Given the description of an element on the screen output the (x, y) to click on. 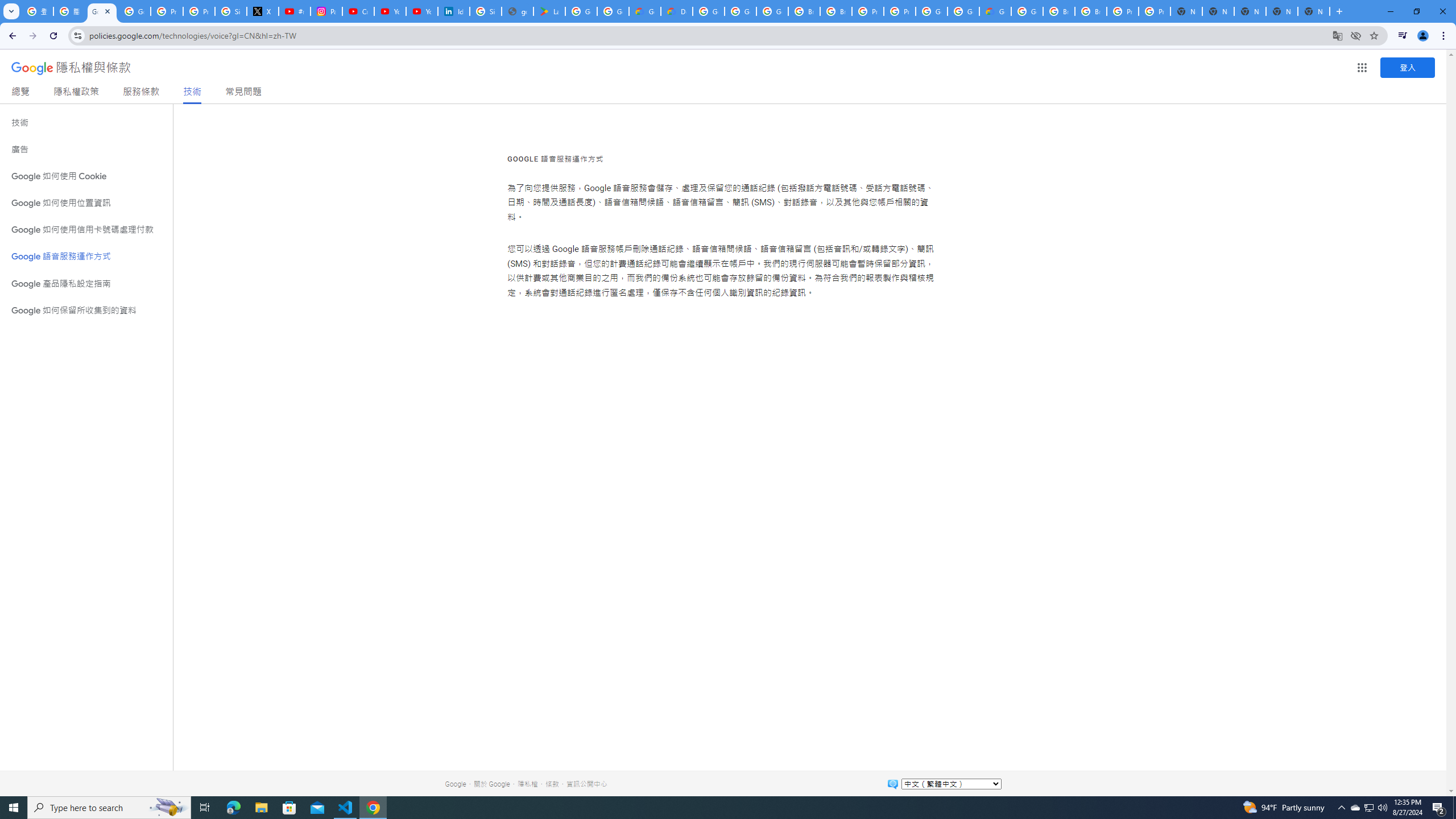
Last Shelter: Survival - Apps on Google Play (549, 11)
Privacy Help Center - Policies Help (198, 11)
Google Cloud Platform (1027, 11)
YouTube Culture & Trends - YouTube Top 10, 2021 (421, 11)
X (262, 11)
